Given the description of an element on the screen output the (x, y) to click on. 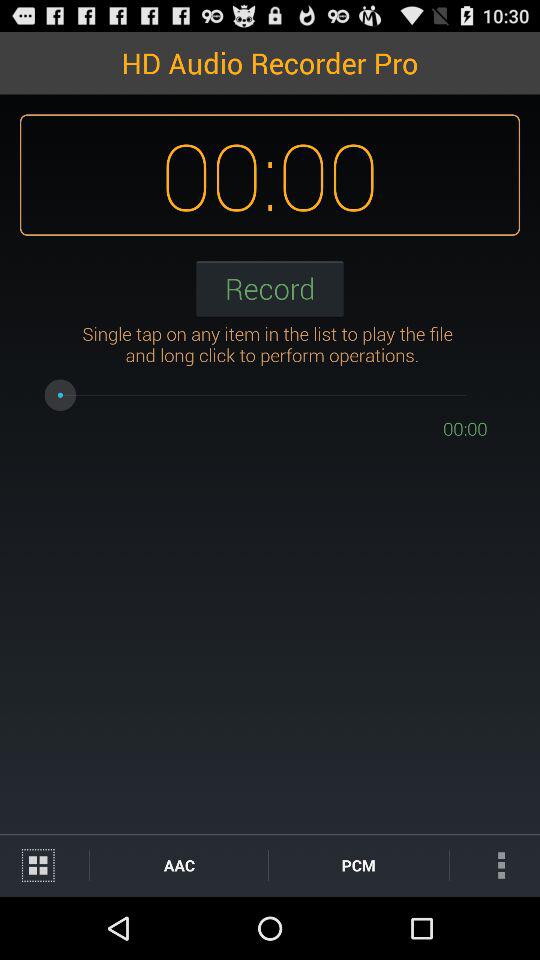
select item next to the pcm icon (494, 864)
